Given the description of an element on the screen output the (x, y) to click on. 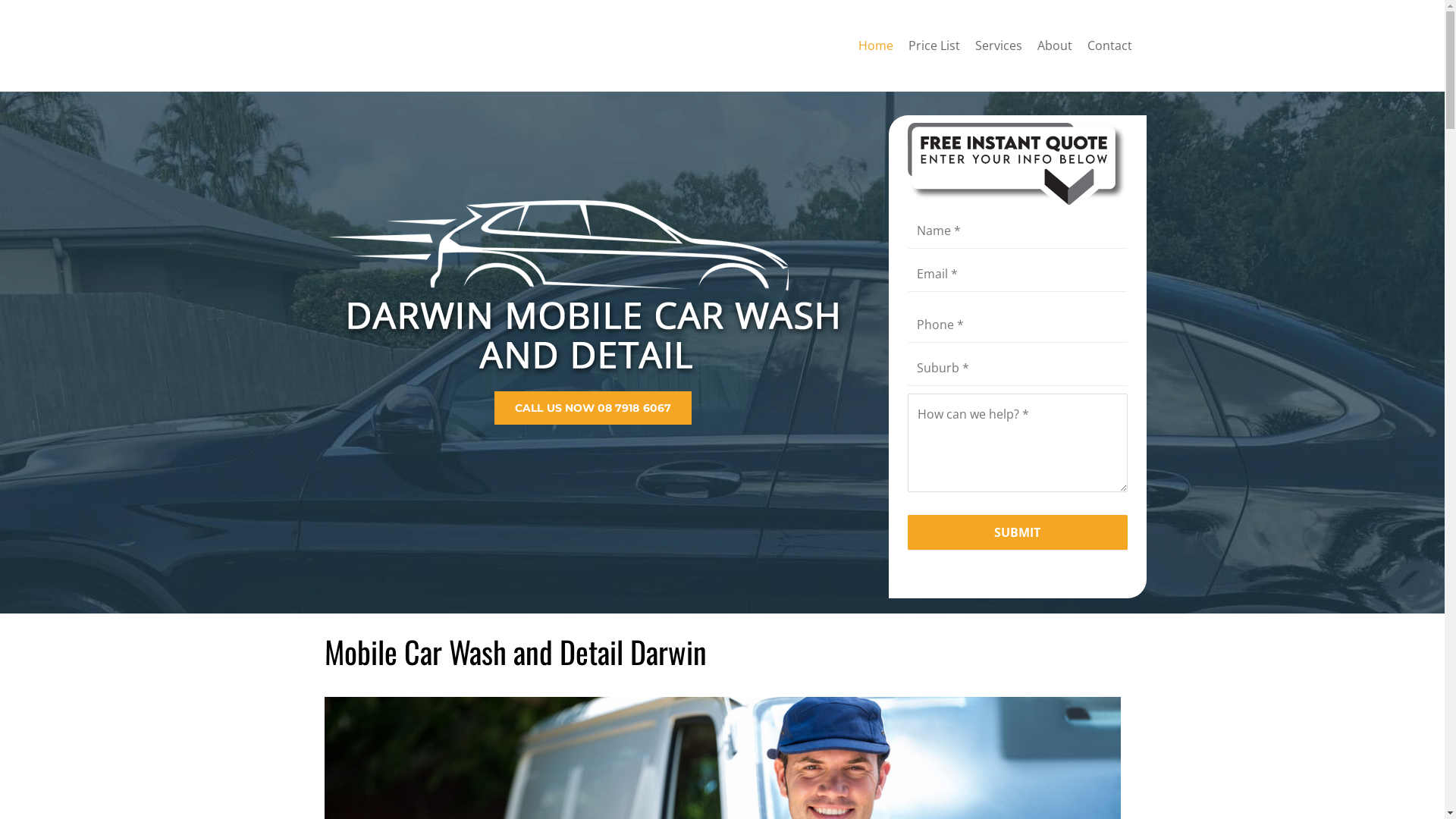
CALL US NOW 08 7918 6067 Element type: text (592, 407)
Contact Element type: text (1109, 45)
Services Element type: text (998, 45)
Home Element type: text (875, 45)
About Element type: text (1054, 45)
SUBMIT Element type: text (1016, 532)
Price List Element type: text (933, 45)
